Given the description of an element on the screen output the (x, y) to click on. 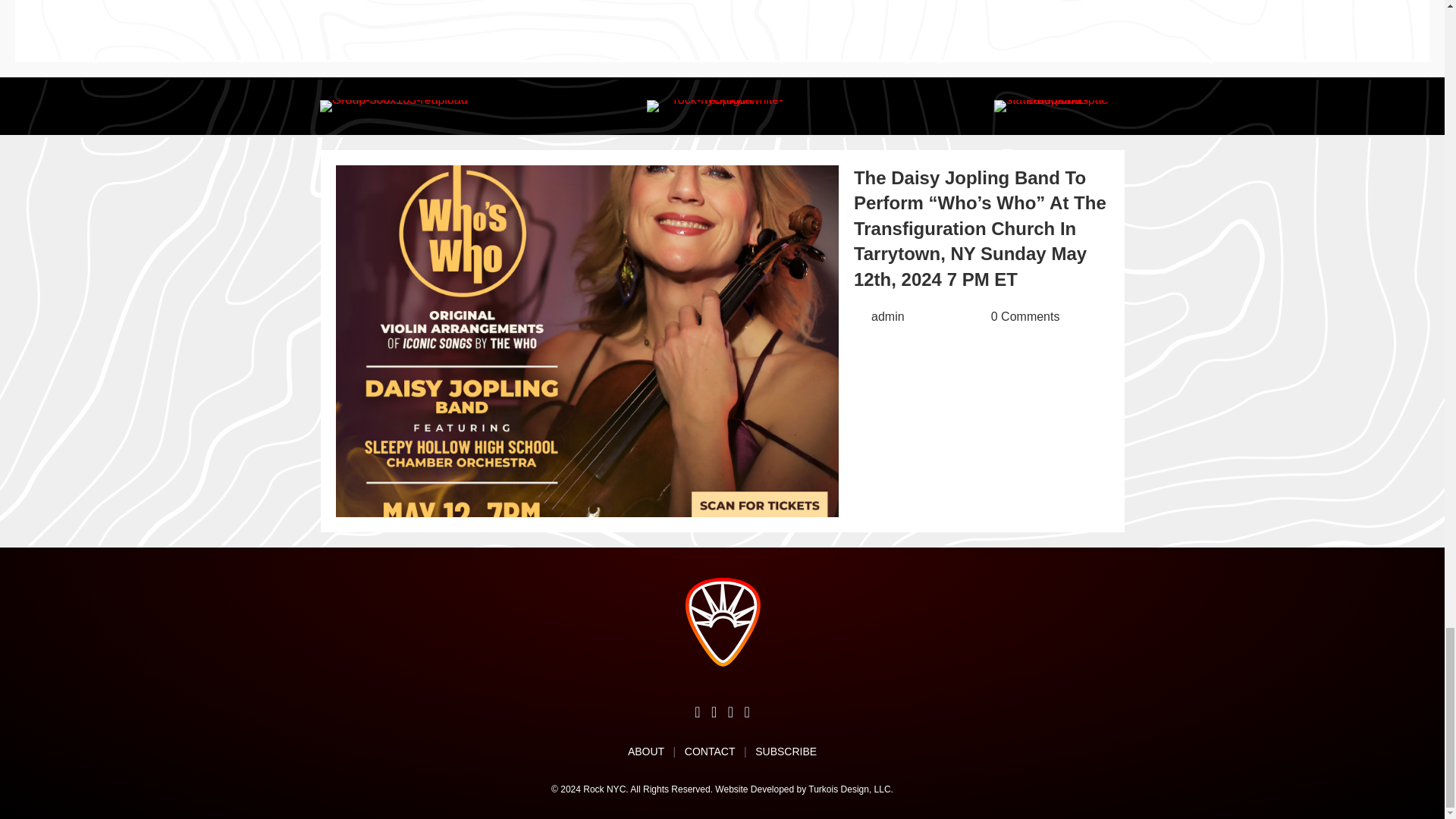
static1.squarespace-500x371-reupload (1051, 105)
Group-500x103-reupload (393, 105)
rock-nyc-logo-white-reupload (721, 105)
